Given the description of an element on the screen output the (x, y) to click on. 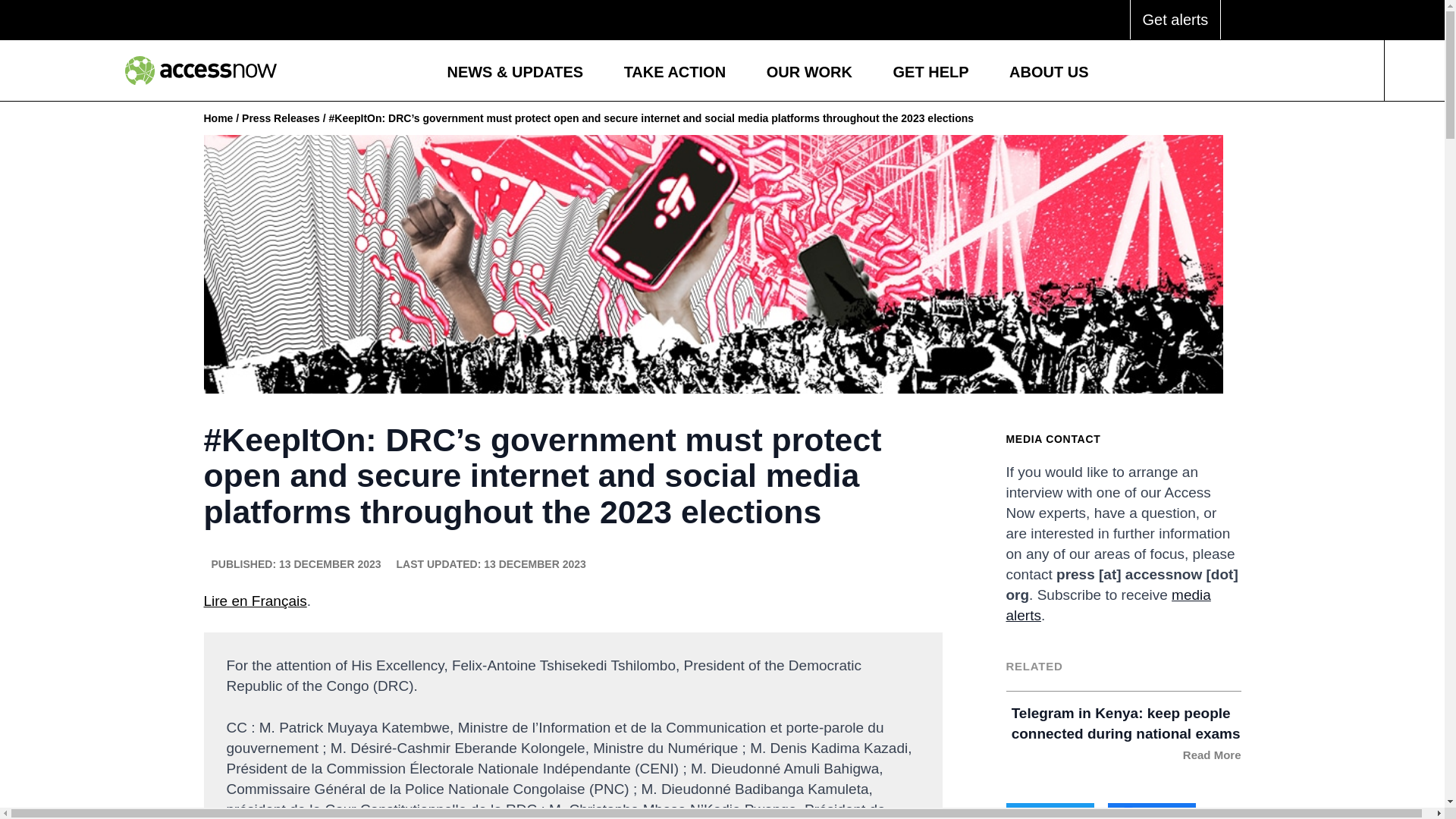
Facebook (1150, 811)
Get alerts (1175, 19)
Twitter (1049, 811)
TAKE ACTION (674, 74)
Skip to main content (80, 1)
Access Now (199, 70)
